Given the description of an element on the screen output the (x, y) to click on. 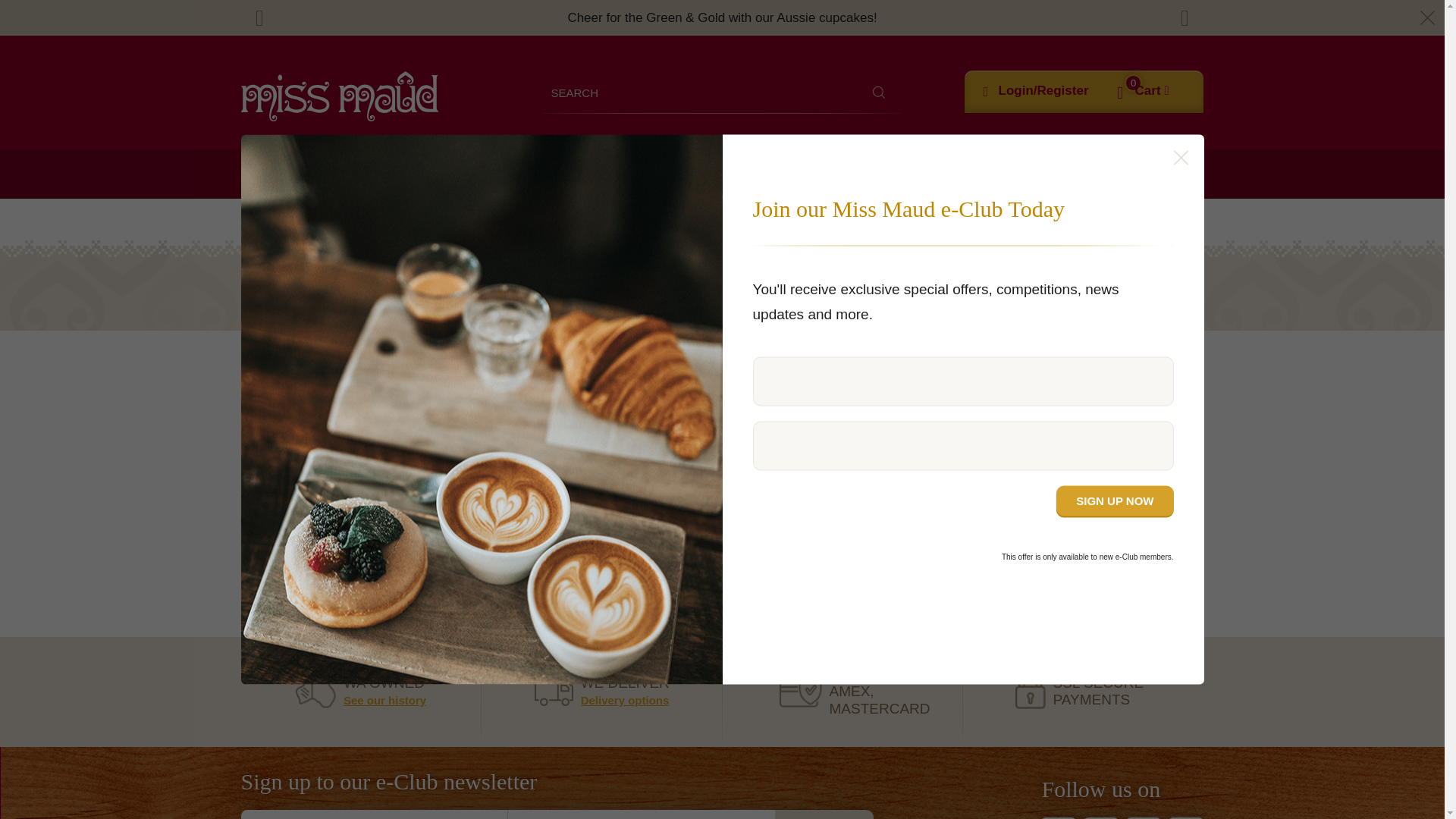
GIFT IDEAS (924, 174)
instagram (1100, 818)
HOME (260, 174)
SPECIAL DIETARY (696, 174)
youtube (1142, 818)
THE GAMES (338, 174)
Search (879, 92)
linkedIn (1186, 818)
Reset Password (721, 538)
Sign Up (823, 814)
Previous Slide (260, 18)
facebook (1058, 818)
CATERING (434, 174)
Sign Up Now (1115, 500)
Cart (1152, 90)
